Given the description of an element on the screen output the (x, y) to click on. 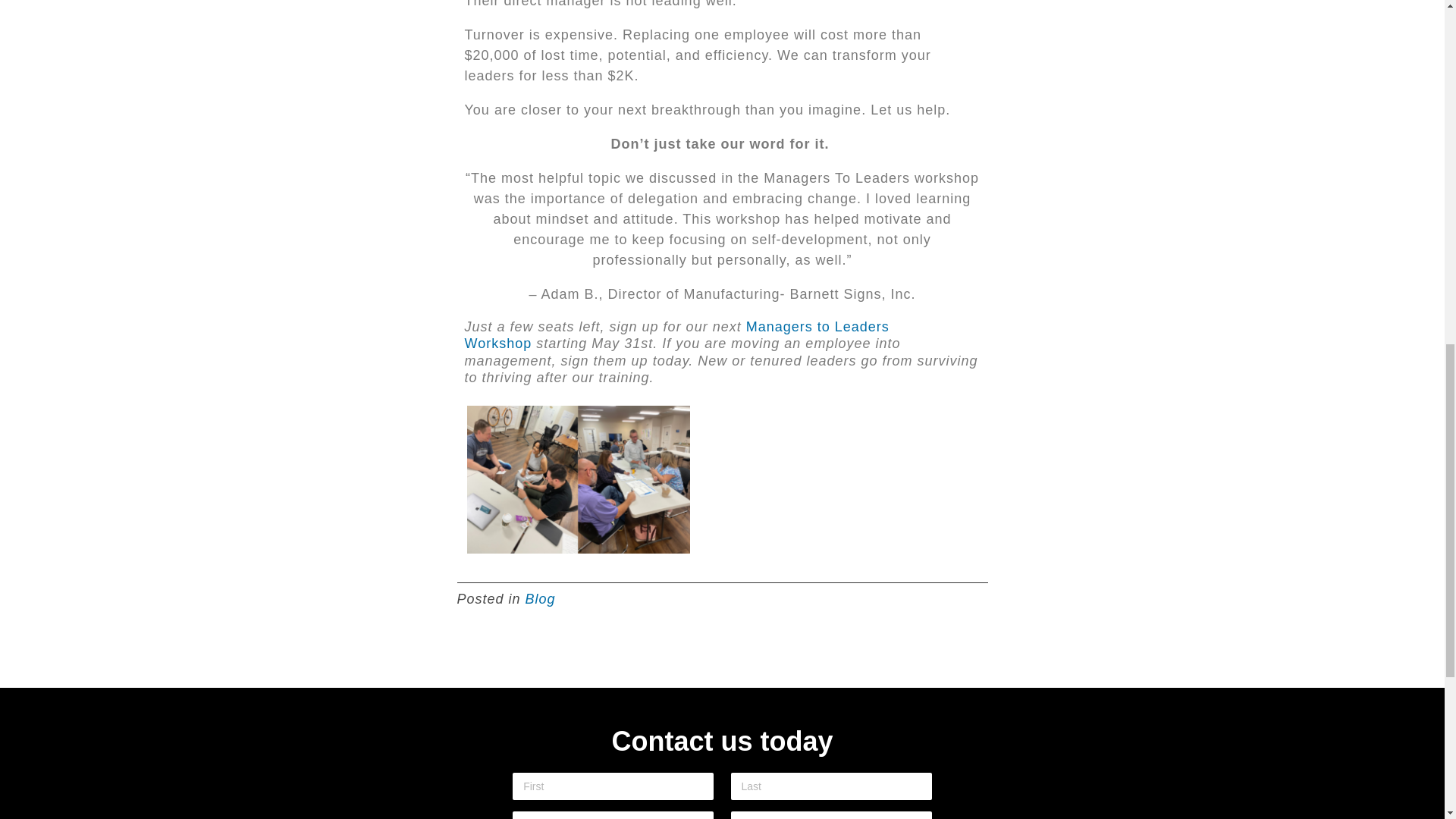
Blog (540, 598)
First (612, 786)
Last (830, 786)
Managers to Leaders Workshop (676, 335)
